Given the description of an element on the screen output the (x, y) to click on. 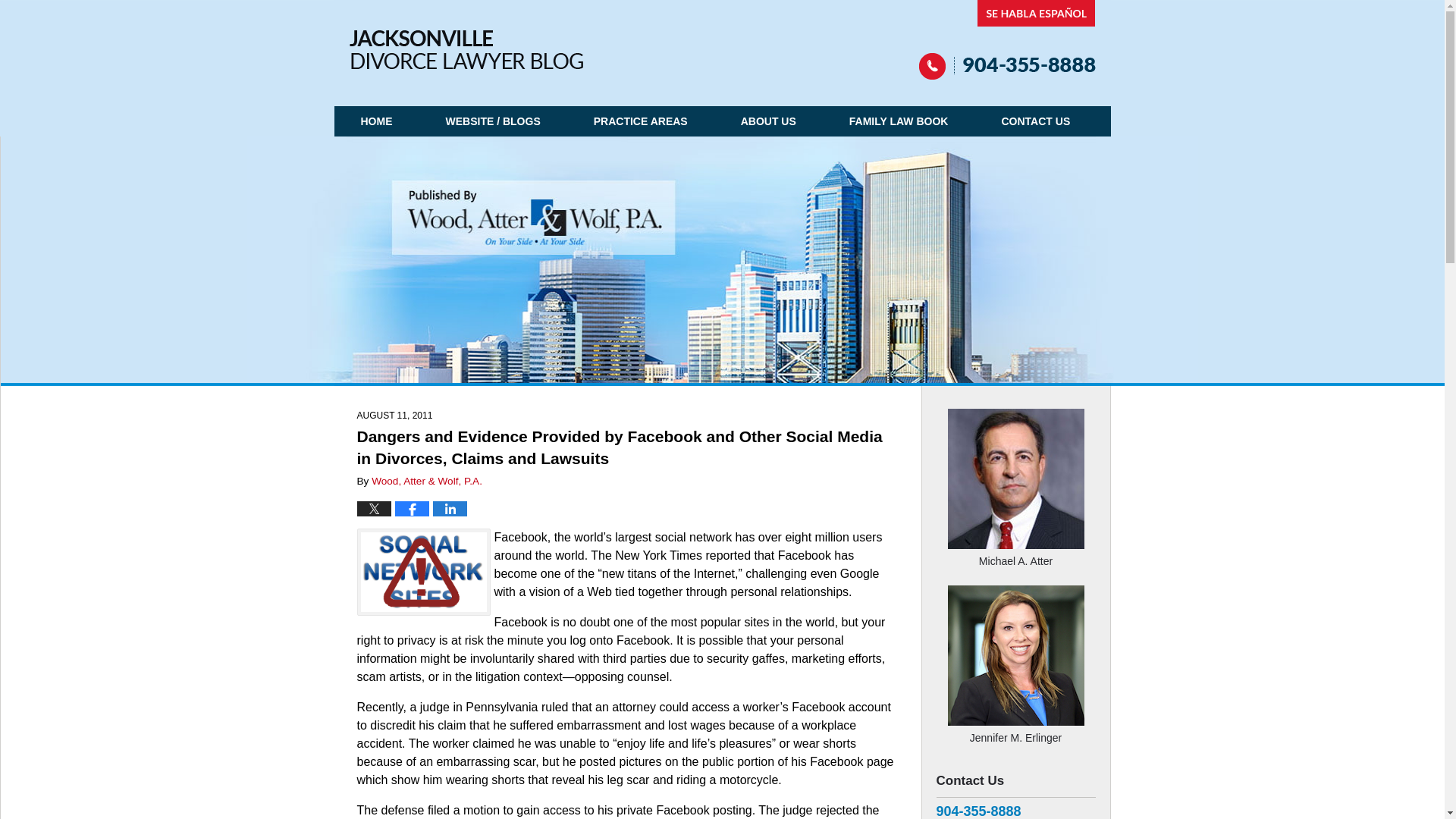
CONTACT US (1035, 121)
Jennifer M. Erlinger (1015, 730)
PRACTICE AREAS (640, 121)
HOME (376, 121)
ABOUT US (768, 121)
Jacksonville Divorce Lawyer Blog (465, 49)
FAMILY LAW BOOK (898, 121)
